Given the description of an element on the screen output the (x, y) to click on. 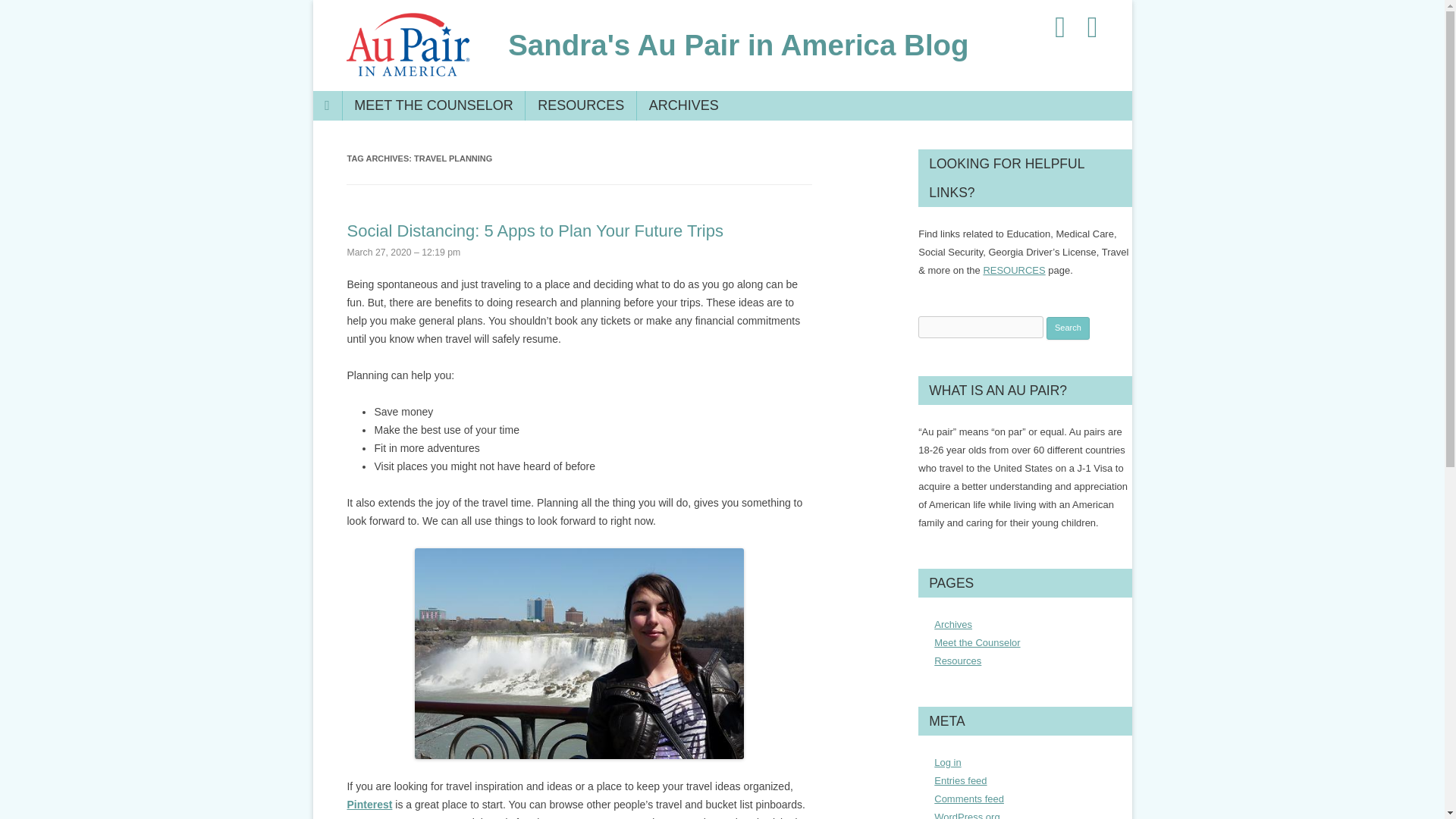
Sandra's Au Pair in America Blog (738, 45)
Search (1067, 327)
WordPress.org (966, 815)
Search (1067, 327)
Log in (947, 762)
Entries feed (960, 780)
ARCHIVES (683, 105)
MEET THE COUNSELOR (433, 105)
